Given the description of an element on the screen output the (x, y) to click on. 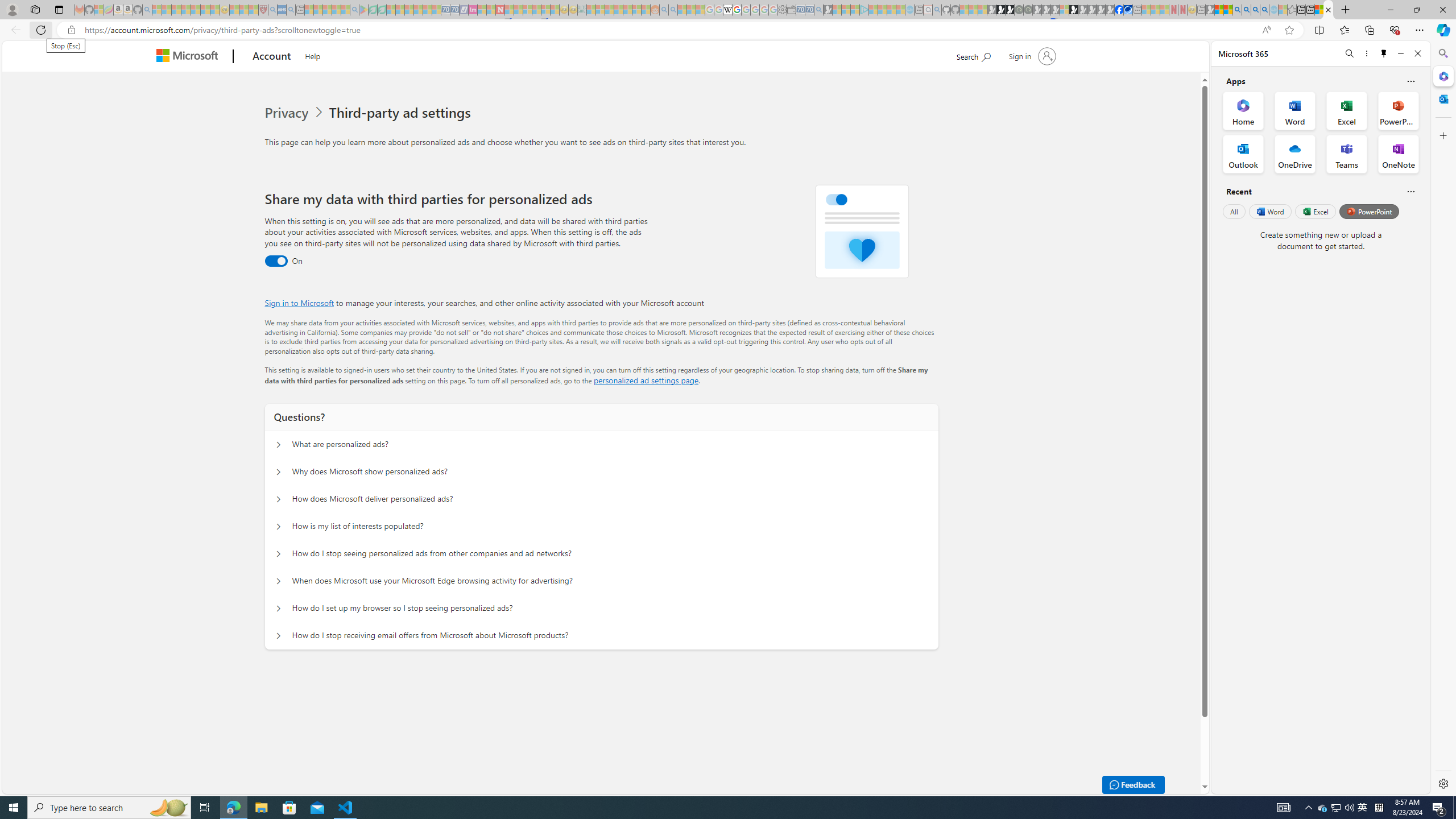
MSNBC - MSN - Sleeping (590, 9)
Bluey: Let's Play! - Apps on Google Play - Sleeping (362, 9)
Teams Office App (1346, 154)
Future Focus Report 2024 - Sleeping (1027, 9)
